Given the description of an element on the screen output the (x, y) to click on. 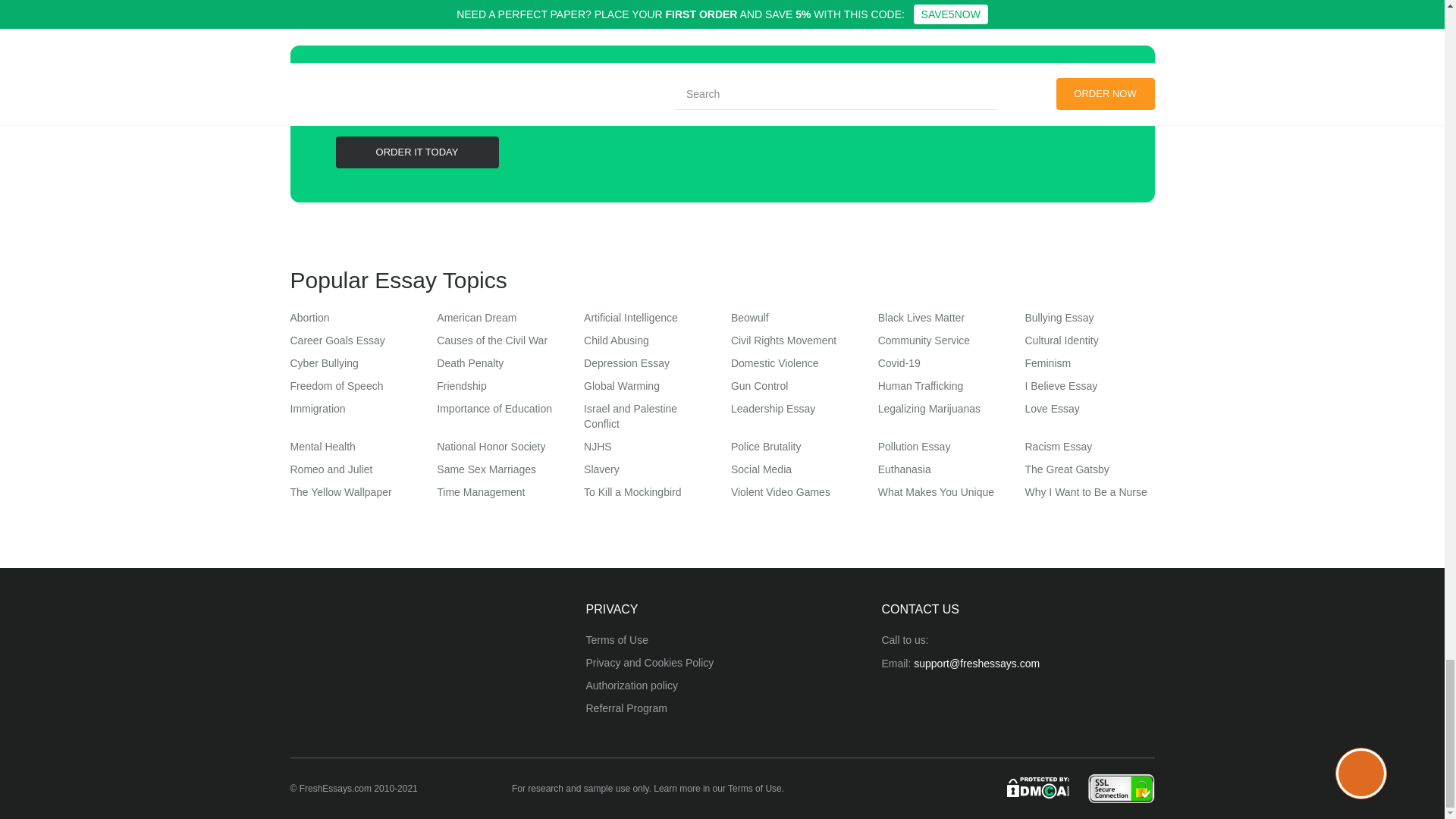
ORDER IT TODAY (415, 152)
Abortion (309, 317)
DMCA.com Protection Program (1039, 787)
